Given the description of an element on the screen output the (x, y) to click on. 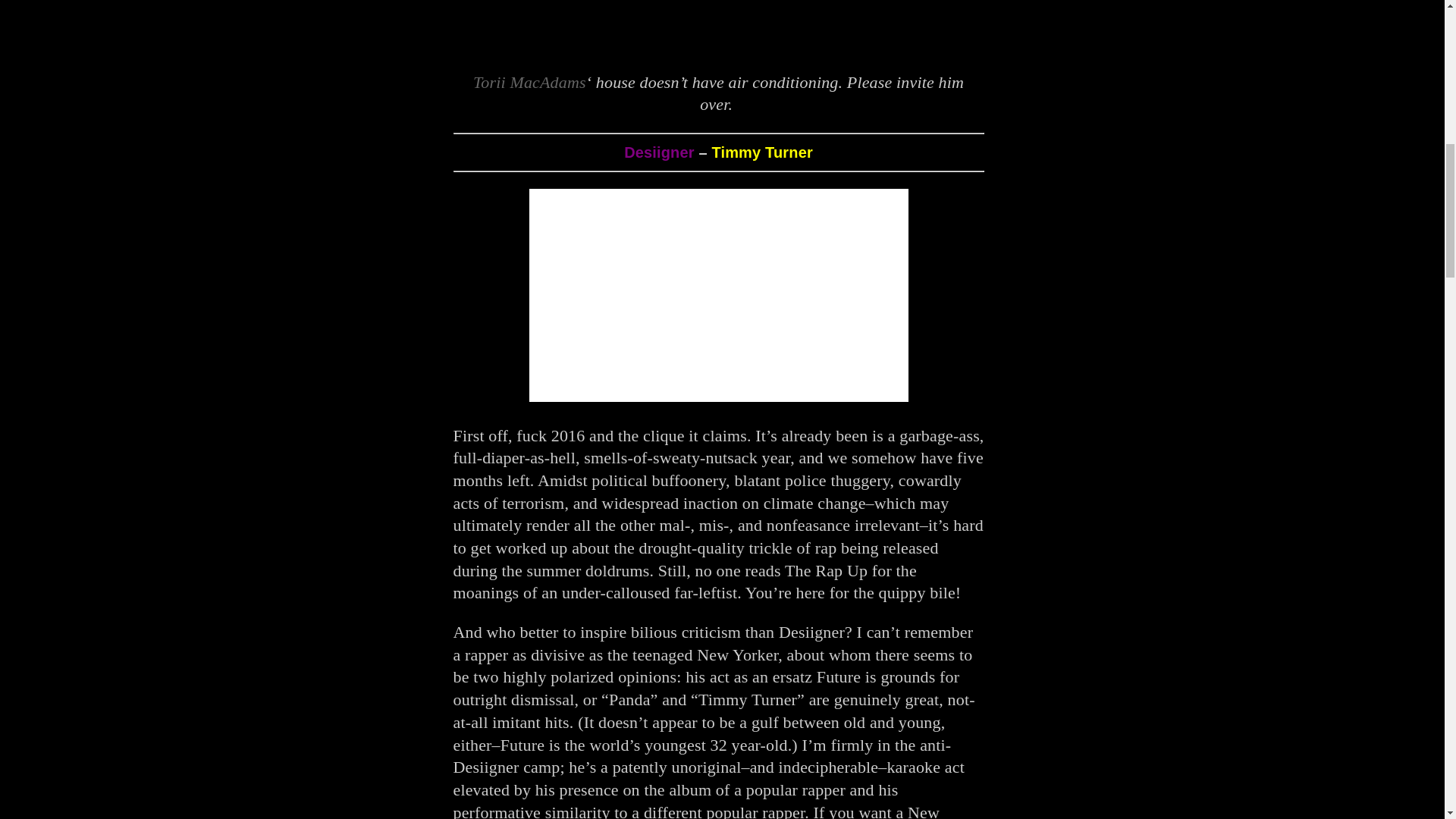
Torii MacAdams (529, 81)
